Given the description of an element on the screen output the (x, y) to click on. 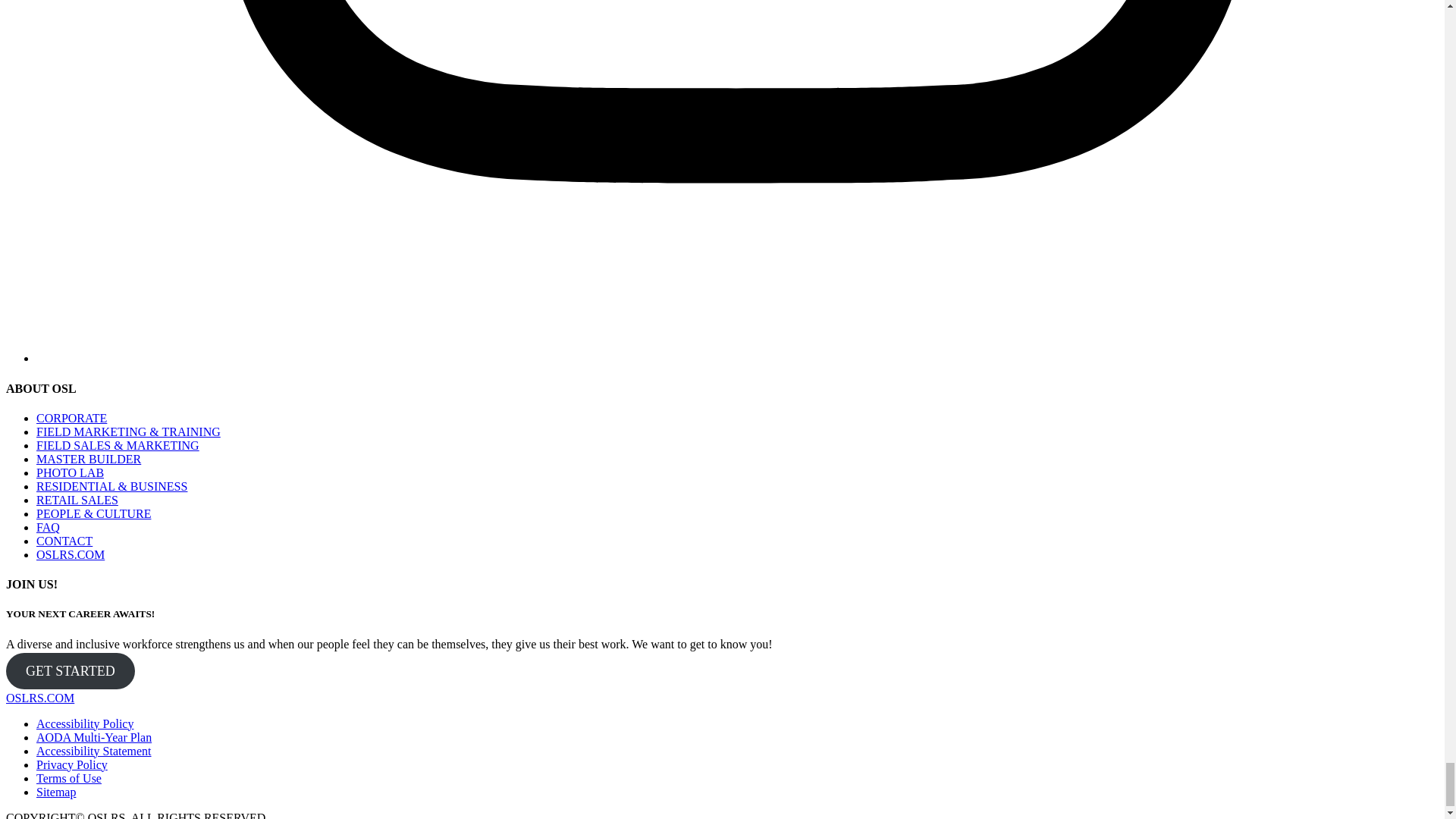
FAQ (47, 526)
MASTER BUILDER (88, 459)
CORPORATE (71, 418)
CONTACT (64, 540)
RETAIL SALES (76, 499)
PHOTO LAB (69, 472)
